Given the description of an element on the screen output the (x, y) to click on. 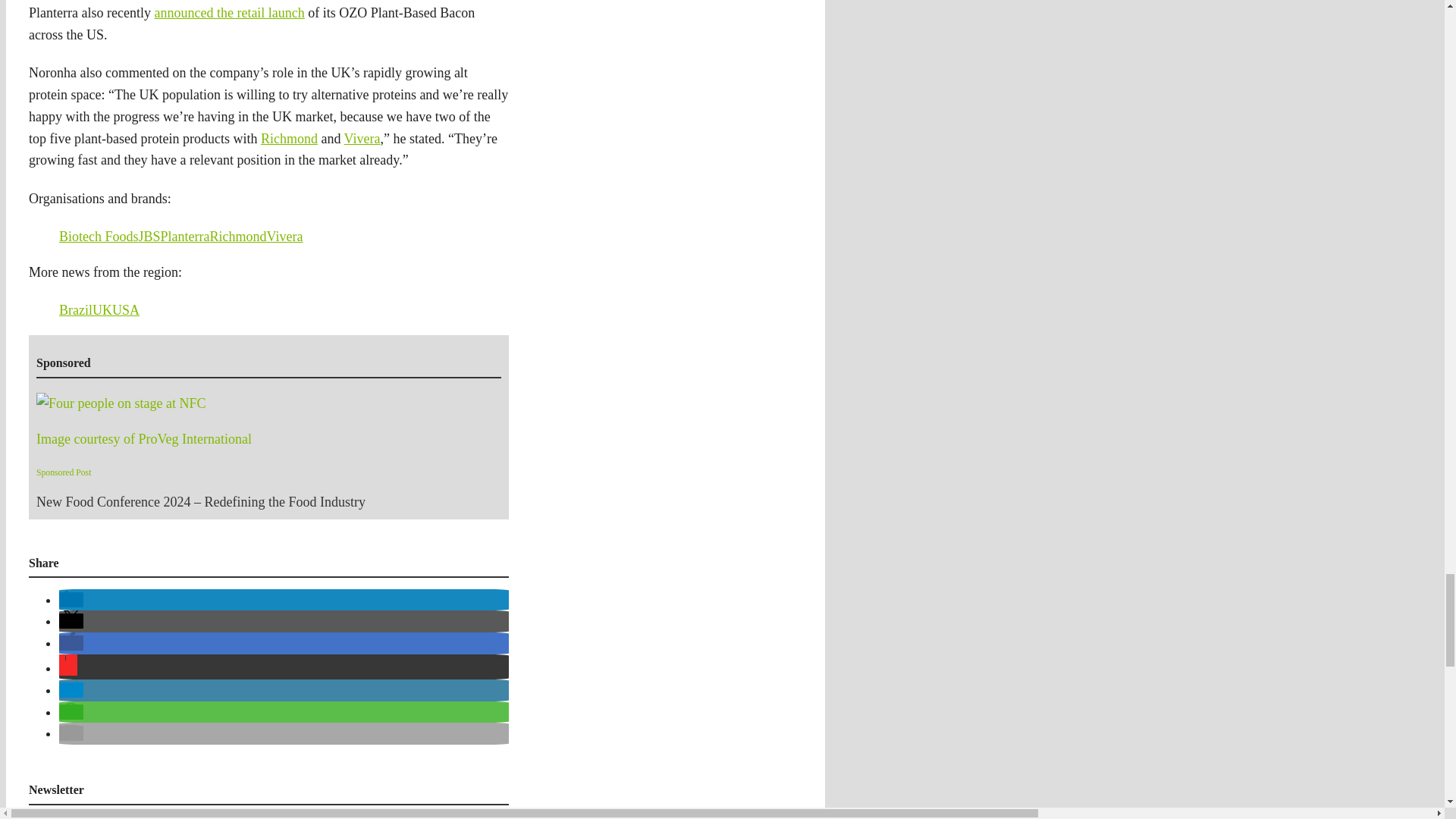
Vivera (284, 236)
Share on LinkedIn (70, 599)
Richmond (237, 236)
UK (102, 309)
Biotech Foods (98, 236)
USA (125, 309)
Share on X (70, 620)
Planterra (184, 236)
JBS (149, 236)
Brazil (76, 309)
